Given the description of an element on the screen output the (x, y) to click on. 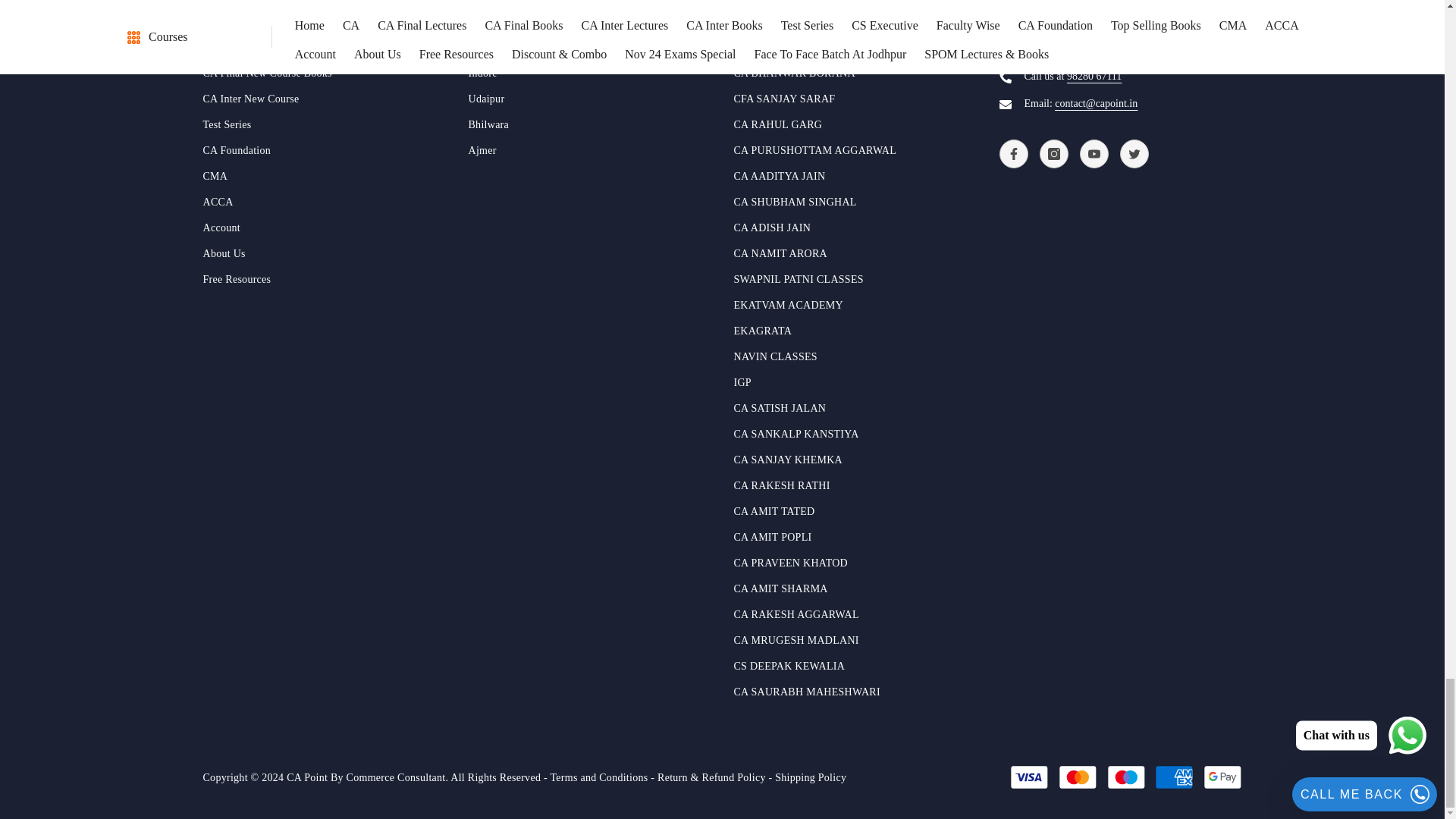
American Express (1173, 776)
tel:09828067111 (1094, 75)
Mastercard (1077, 776)
Maestro (1125, 776)
Google Pay (1222, 776)
Visa (1029, 776)
